Given the description of an element on the screen output the (x, y) to click on. 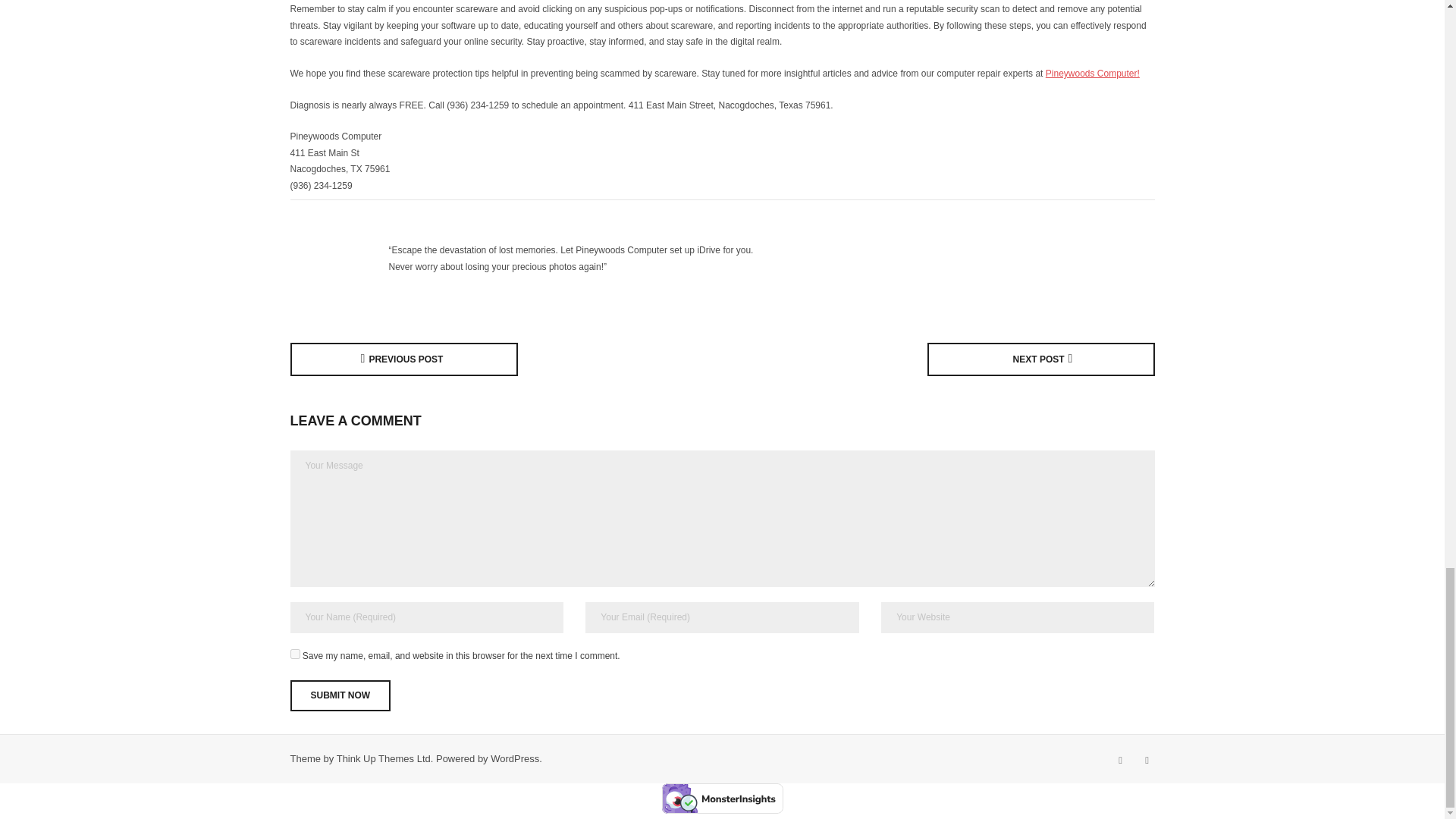
Verified by MonsterInsights (722, 798)
Submit Now (339, 695)
Think Up Themes Ltd (383, 758)
NEXT POST (1040, 359)
PREVIOUS POST (402, 359)
Pineywoods Computer! (1092, 72)
Authorized Reseller (334, 258)
yes (294, 654)
Submit Now (339, 695)
